Given the description of an element on the screen output the (x, y) to click on. 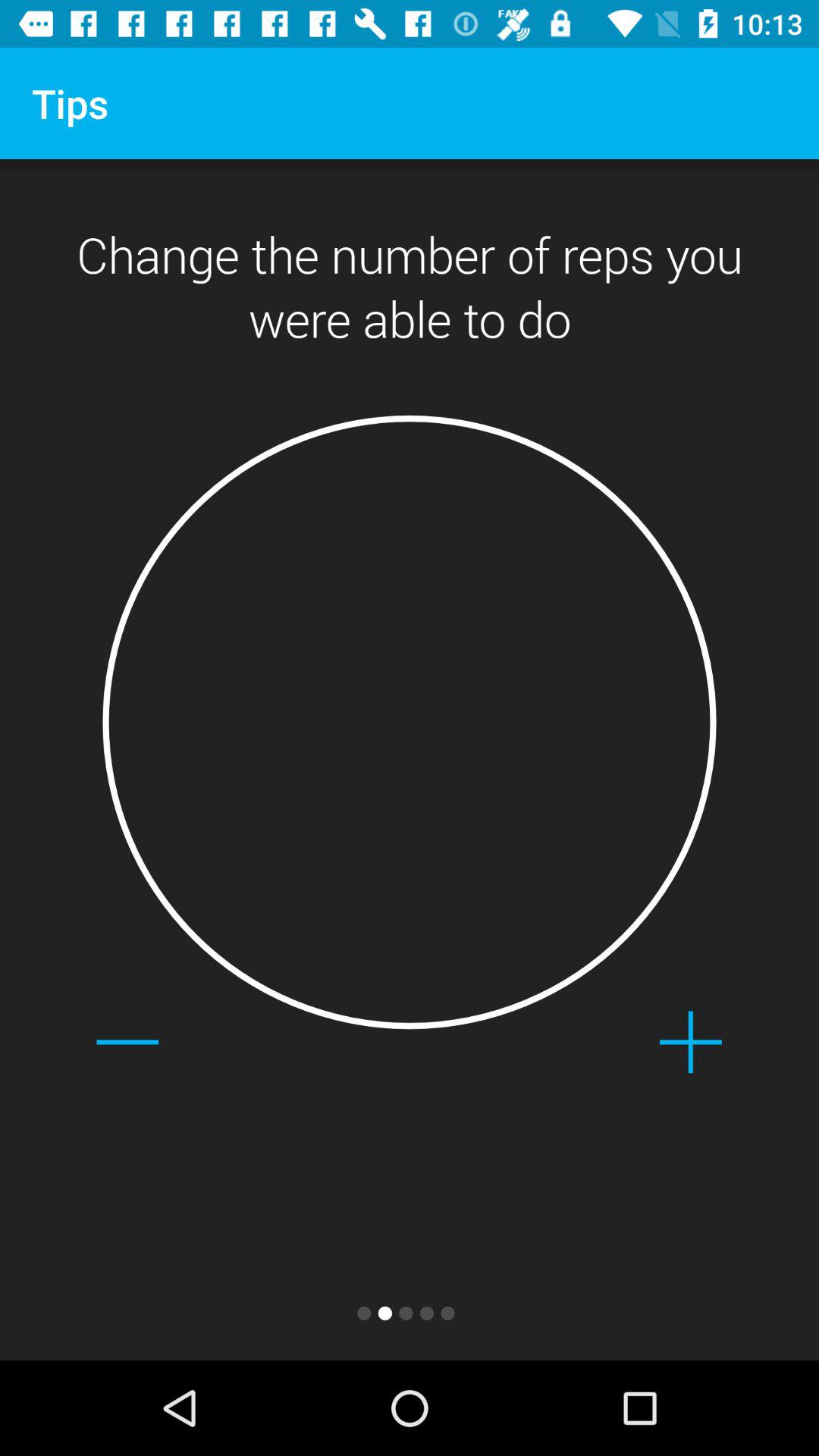
turn off the icon at the bottom left corner (127, 1042)
